Given the description of an element on the screen output the (x, y) to click on. 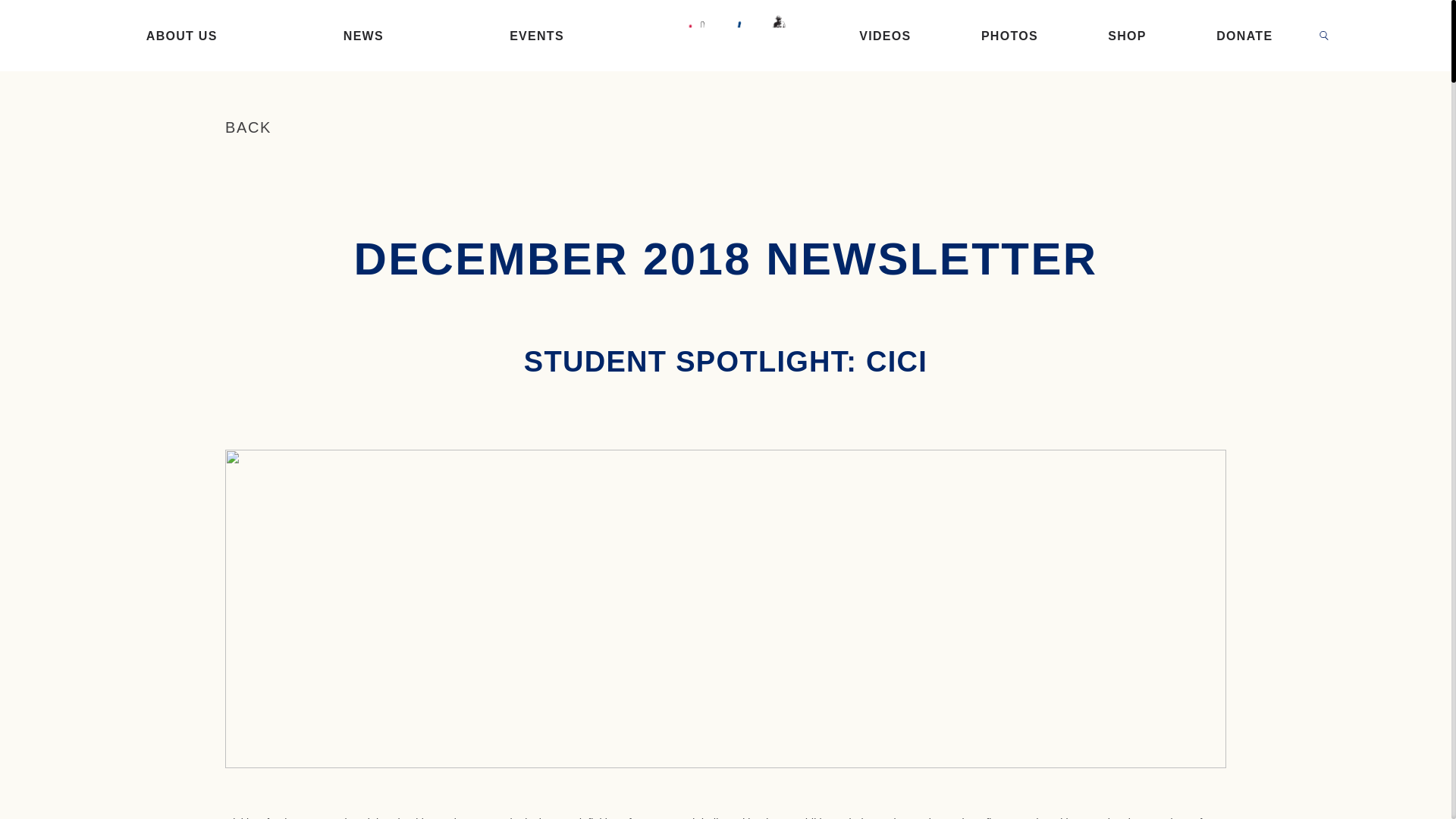
ABOUT US (181, 36)
DONATE (1243, 36)
PHOTOS (1009, 36)
NEWS (363, 36)
BACK (247, 126)
VIDEOS (885, 36)
EVENTS (536, 36)
SHOP (1126, 36)
